Given the description of an element on the screen output the (x, y) to click on. 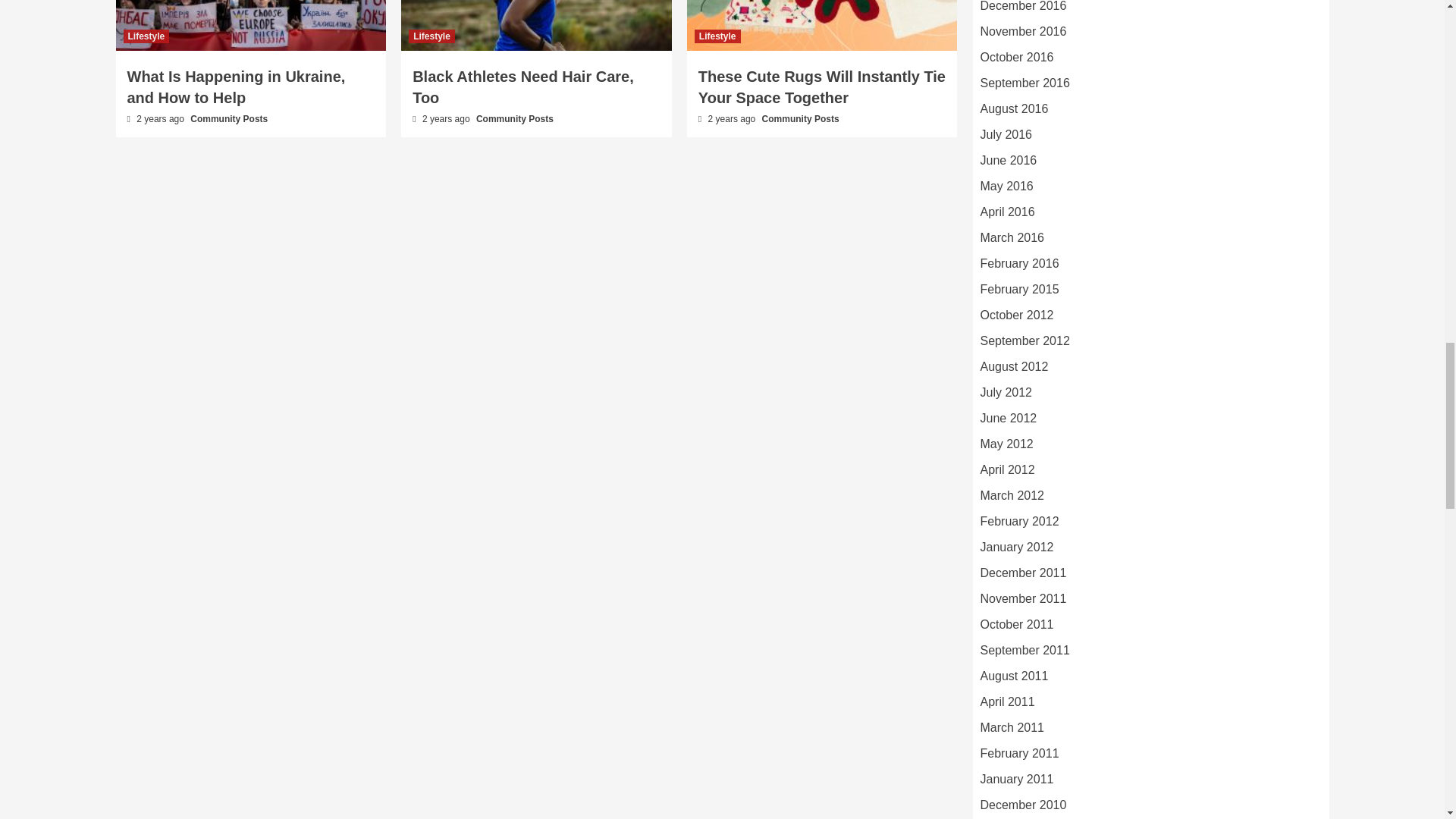
Lifestyle (431, 36)
Community Posts (514, 118)
Lifestyle (717, 36)
What Is Happening in Ukraine, and How to Help (237, 86)
Lifestyle (145, 36)
Community Posts (228, 118)
These Cute Rugs Will Instantly Tie Your Space Together (821, 86)
Community Posts (800, 118)
Black Athletes Need Hair Care, Too (522, 86)
